Given the description of an element on the screen output the (x, y) to click on. 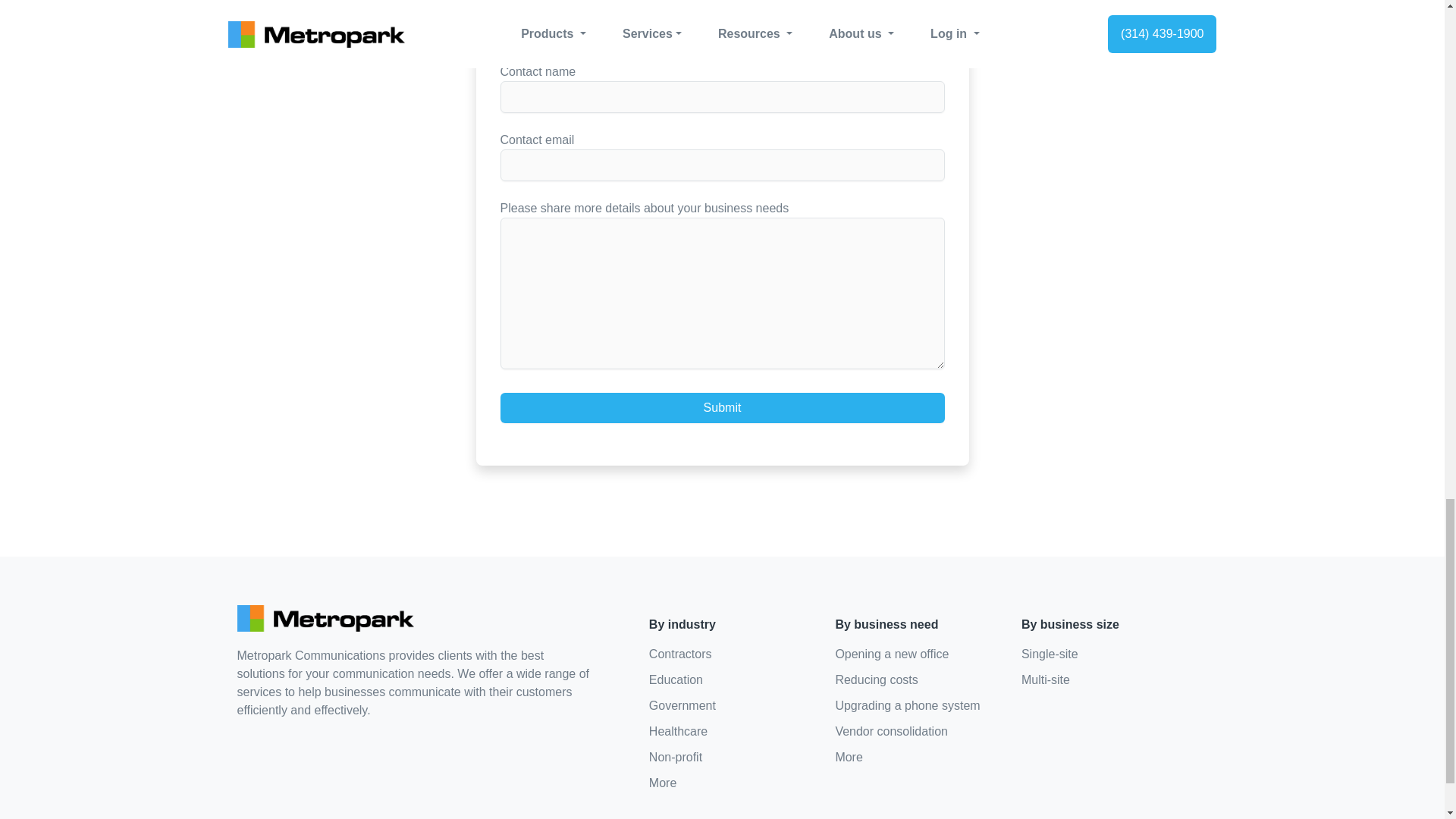
Submit (722, 408)
